Given the description of an element on the screen output the (x, y) to click on. 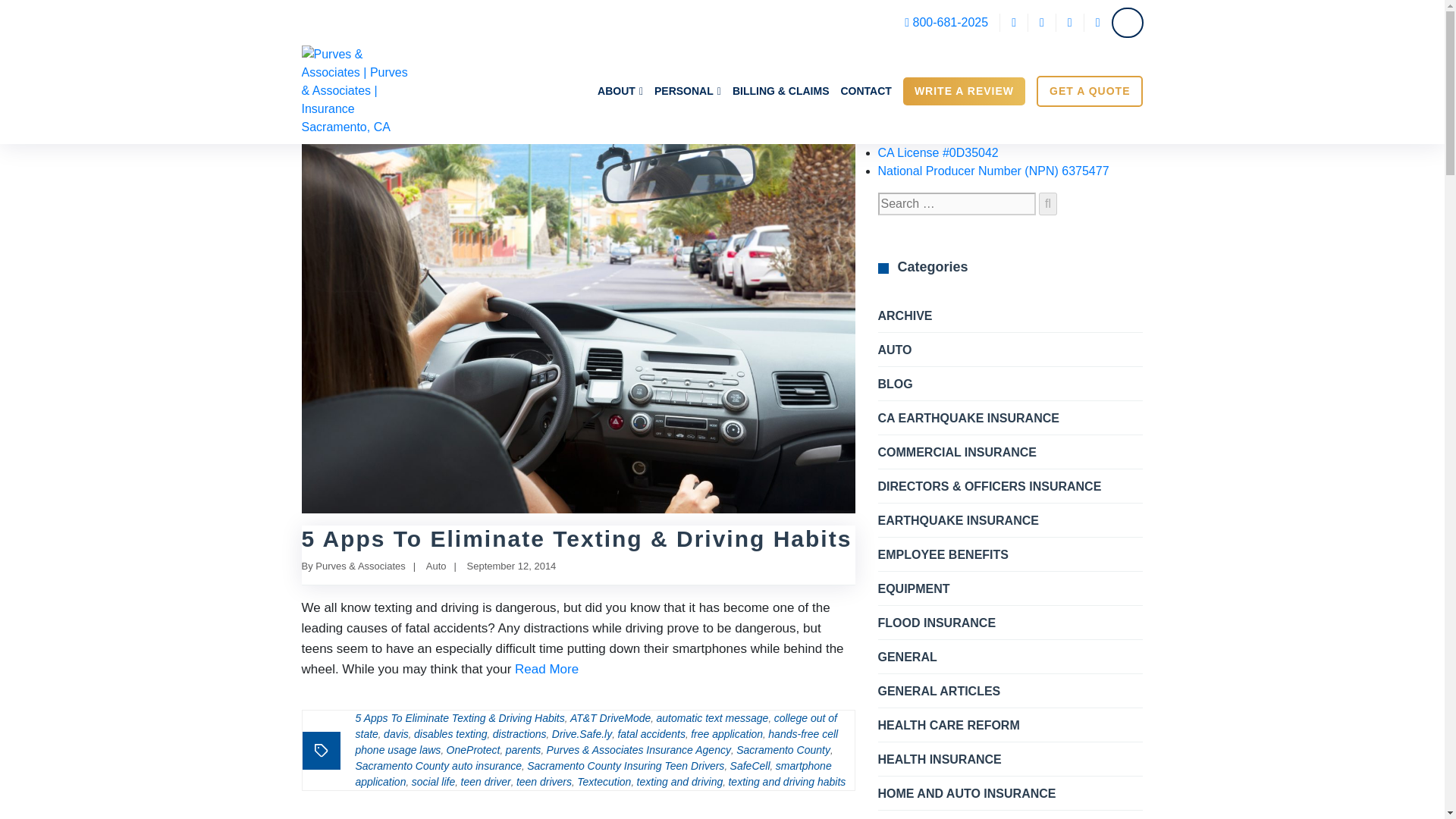
CONTACT (865, 90)
hands-free cell phone usage laws (596, 741)
disables texting (450, 734)
fatal accidents (651, 734)
Youtube (1097, 22)
Twitter (1041, 22)
OneProtect (473, 749)
free application (726, 734)
September 12, 2014 (511, 565)
800-681-2025 (945, 22)
Auto (436, 565)
WRITE A REVIEW (963, 90)
Drive.Safe.ly (581, 734)
Linkedin (1069, 22)
automatic text message (712, 717)
